Given the description of an element on the screen output the (x, y) to click on. 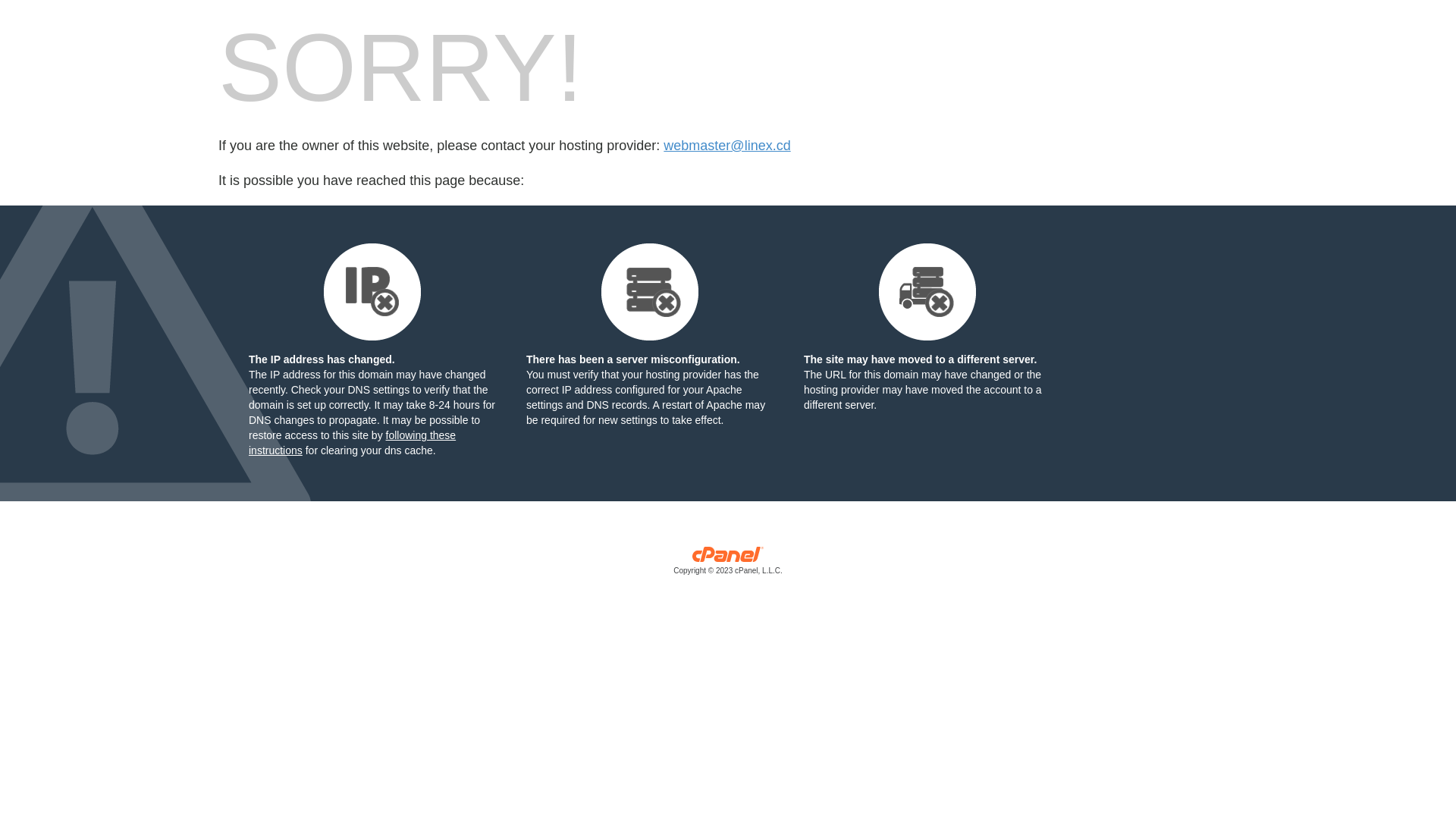
following these instructions Element type: text (351, 442)
webmaster@linex.cd Element type: text (726, 145)
